Given the description of an element on the screen output the (x, y) to click on. 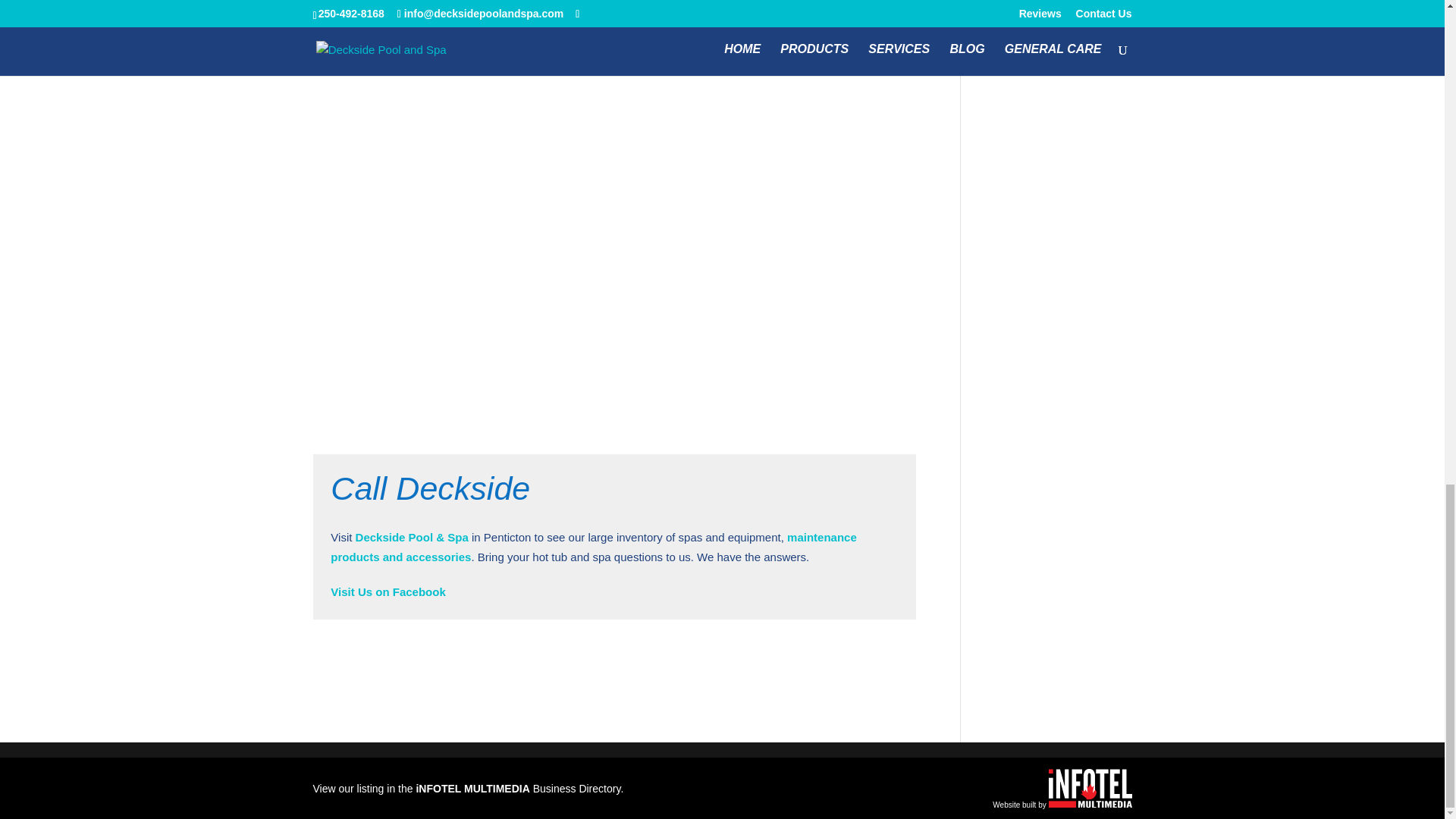
iNFOTEL MULTIMEDIA Business Directory (517, 788)
maintenance products and accessories (593, 546)
Visit Us on Facebook (387, 591)
